Given the description of an element on the screen output the (x, y) to click on. 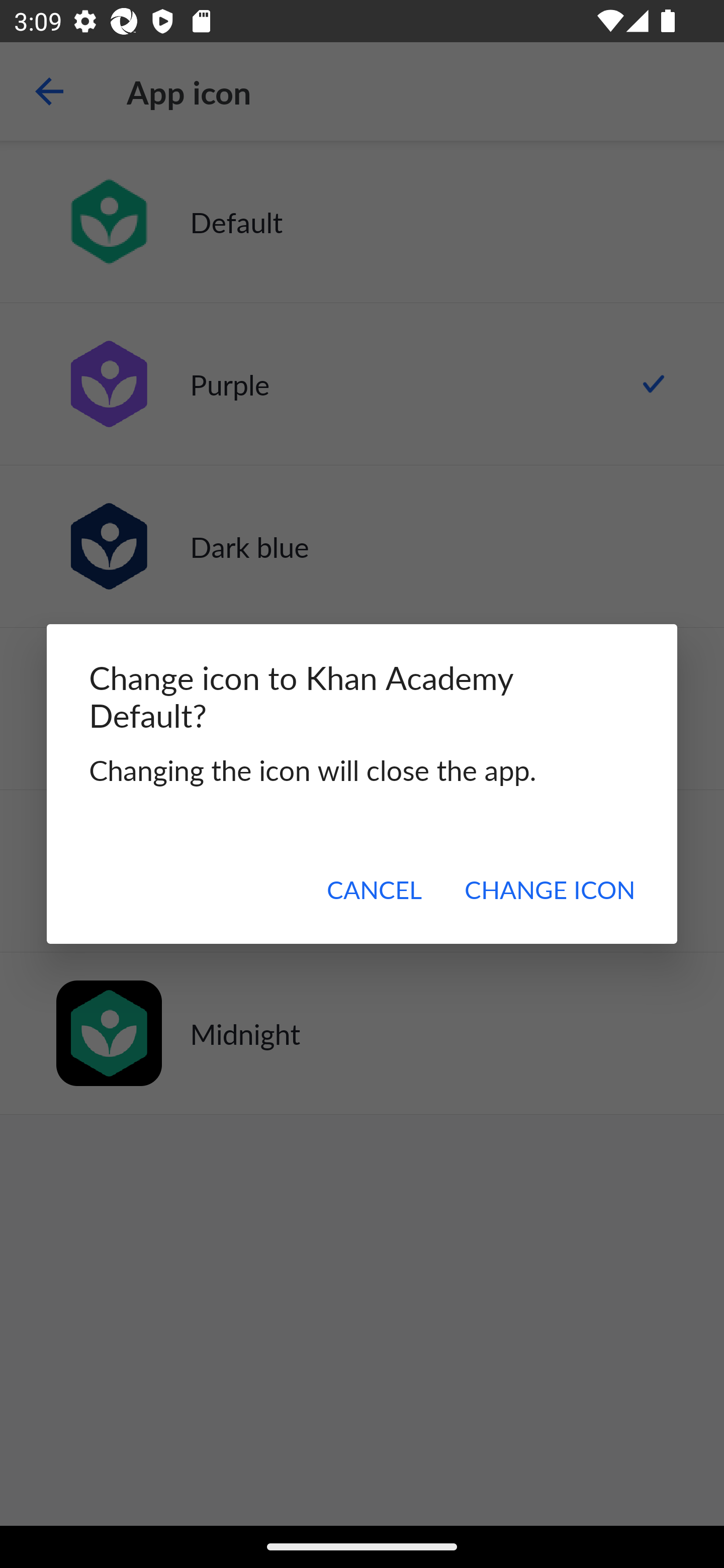
CANCEL (374, 889)
CHANGE ICON (549, 889)
